Given the description of an element on the screen output the (x, y) to click on. 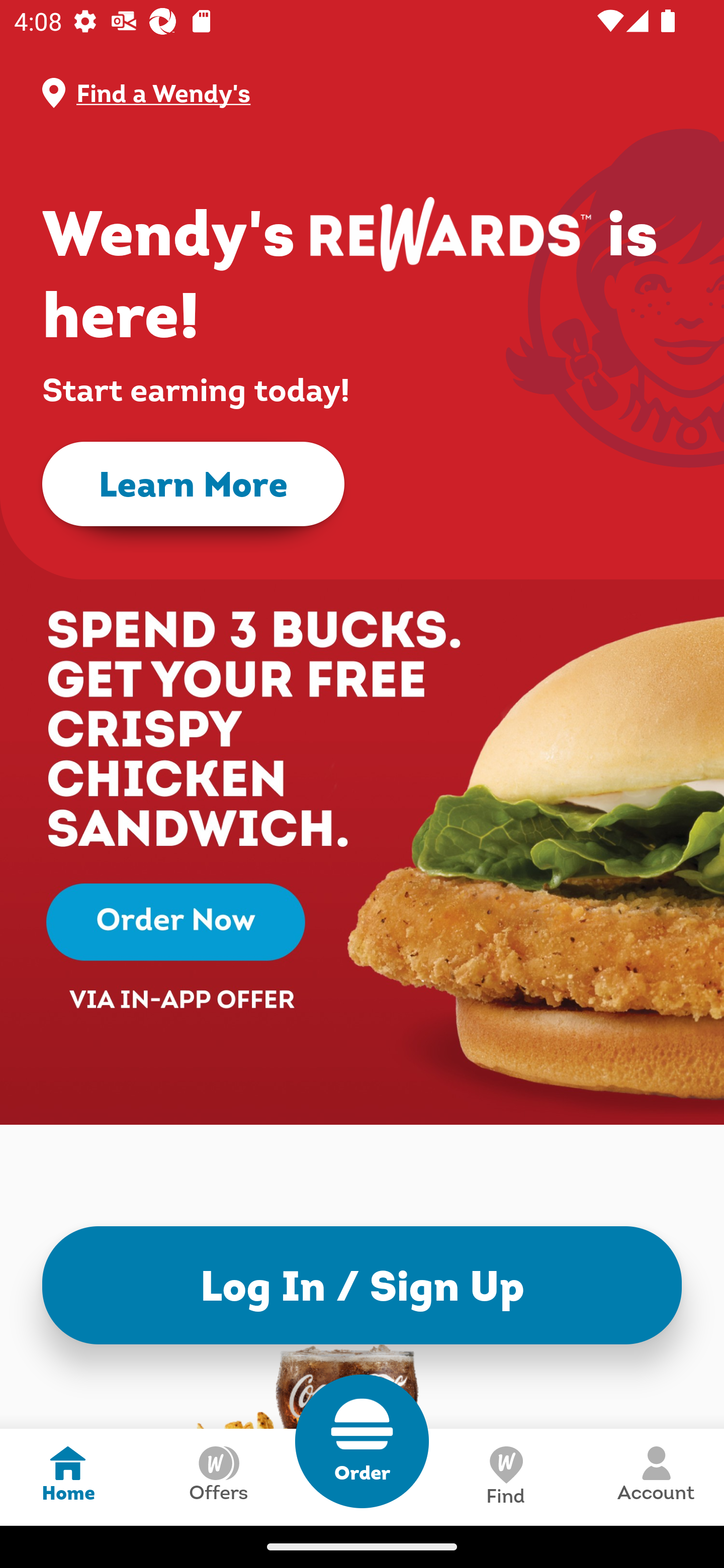
Find a Wendy's (378, 92)
Learn More (192, 484)
Campaign image (362, 807)
Log In / Sign Up (361, 1284)
Order,3 of 5 Order (361, 1441)
Home,1 of 5 Home (68, 1476)
Rewards,2 of 5 Offers Offers (218, 1476)
Scan,4 of 5 Find Find (505, 1476)
Account,5 of 5 Account (655, 1476)
